Given the description of an element on the screen output the (x, y) to click on. 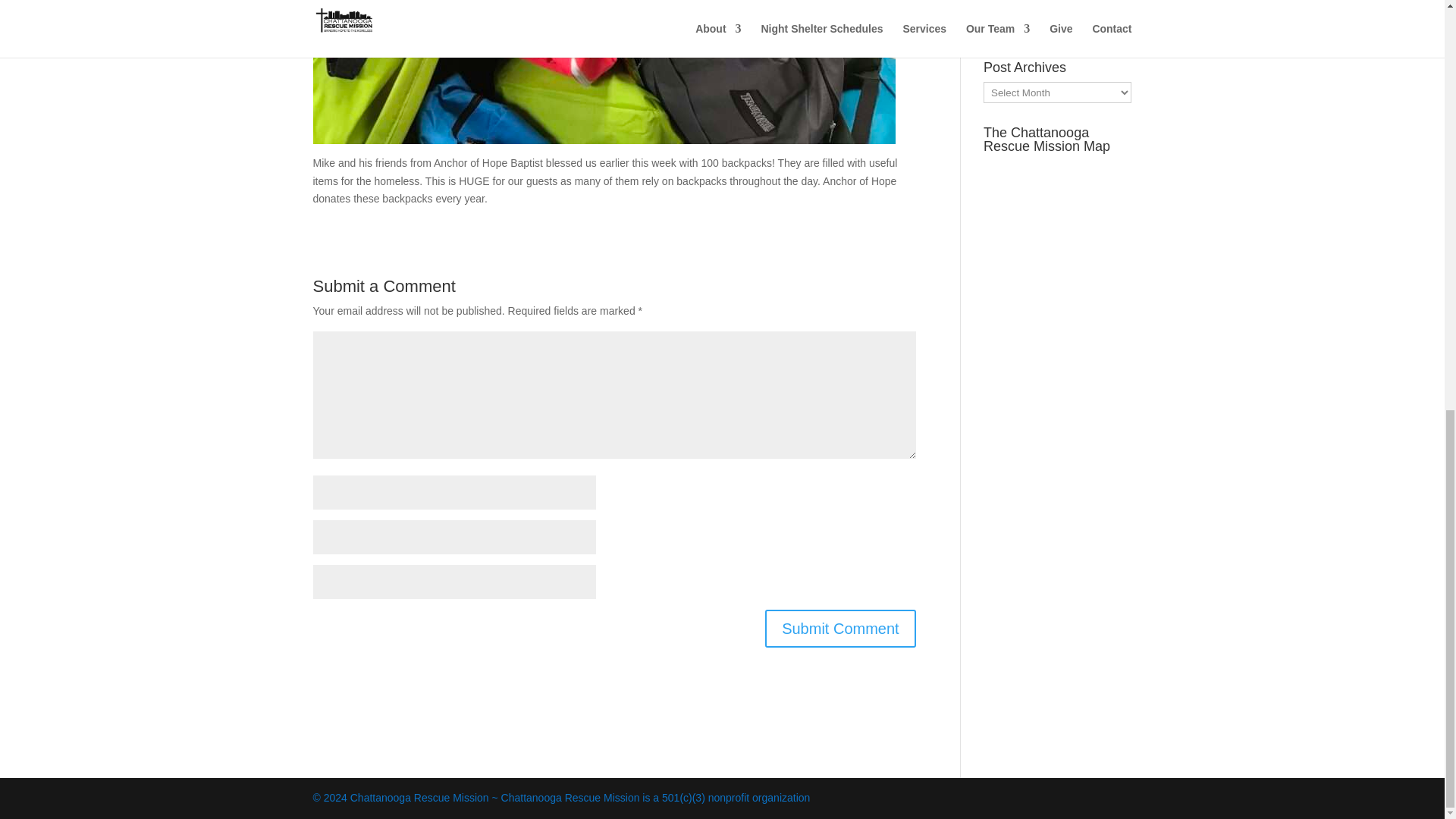
Submit Comment (840, 628)
Submit Comment (840, 628)
